Given the description of an element on the screen output the (x, y) to click on. 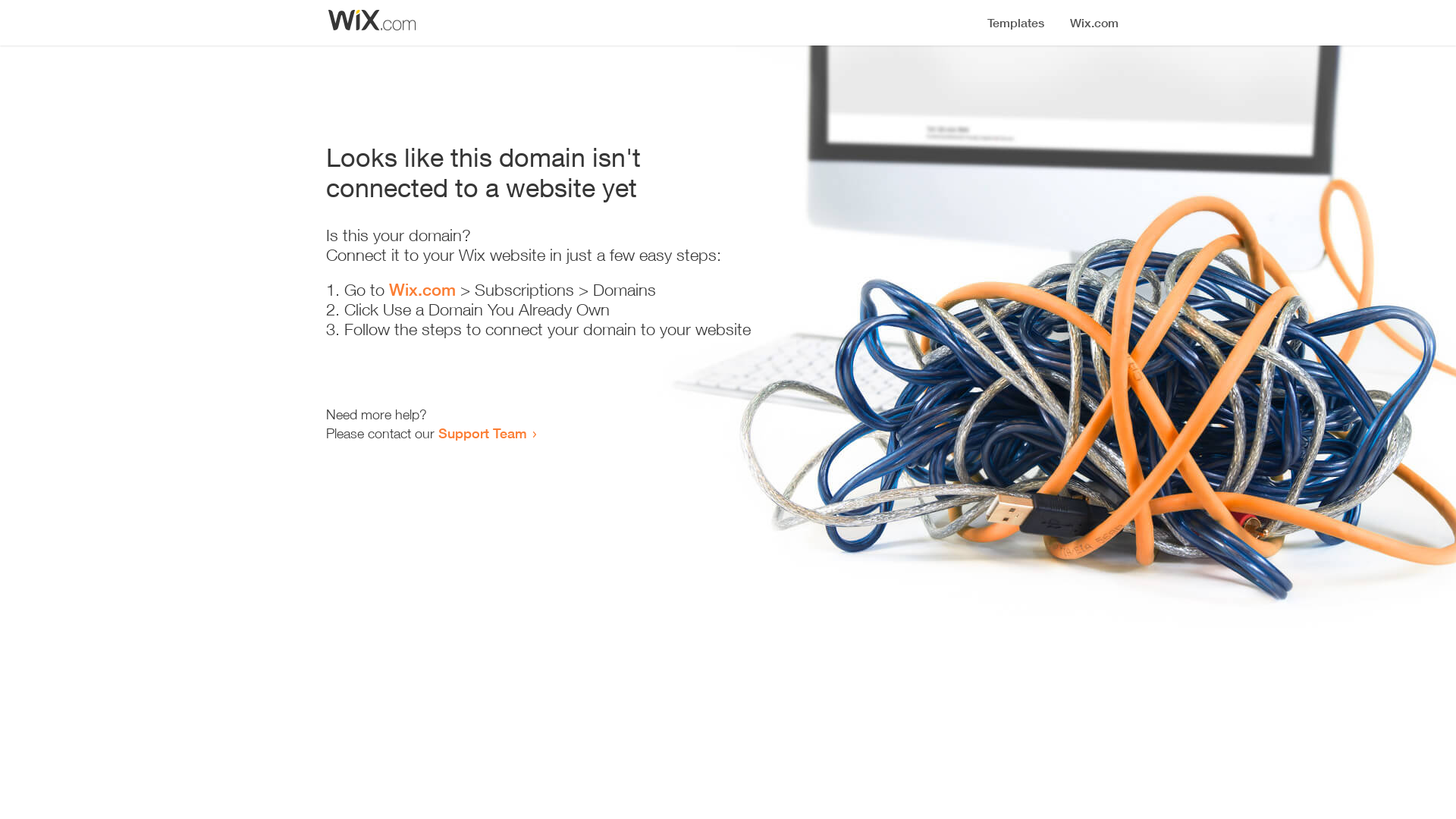
Support Team Element type: text (482, 432)
Wix.com Element type: text (422, 289)
